Given the description of an element on the screen output the (x, y) to click on. 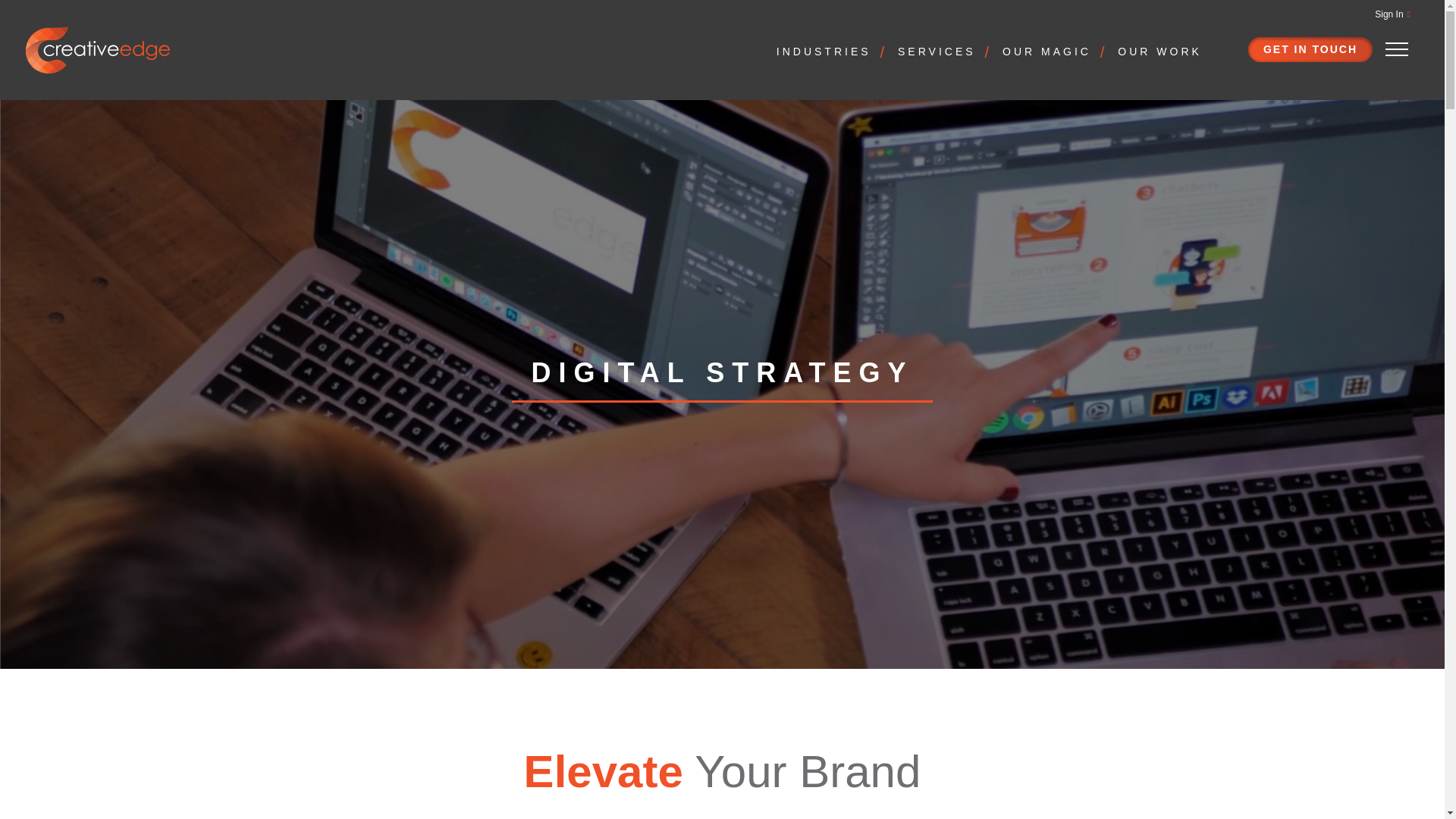
OUR WORK (1159, 49)
Creative Edge (97, 49)
SERVICES (943, 49)
Sign In (1392, 14)
OUR MAGIC (1052, 49)
INDUSTRIES (830, 49)
GET IN TOUCH (1310, 49)
